Given the description of an element on the screen output the (x, y) to click on. 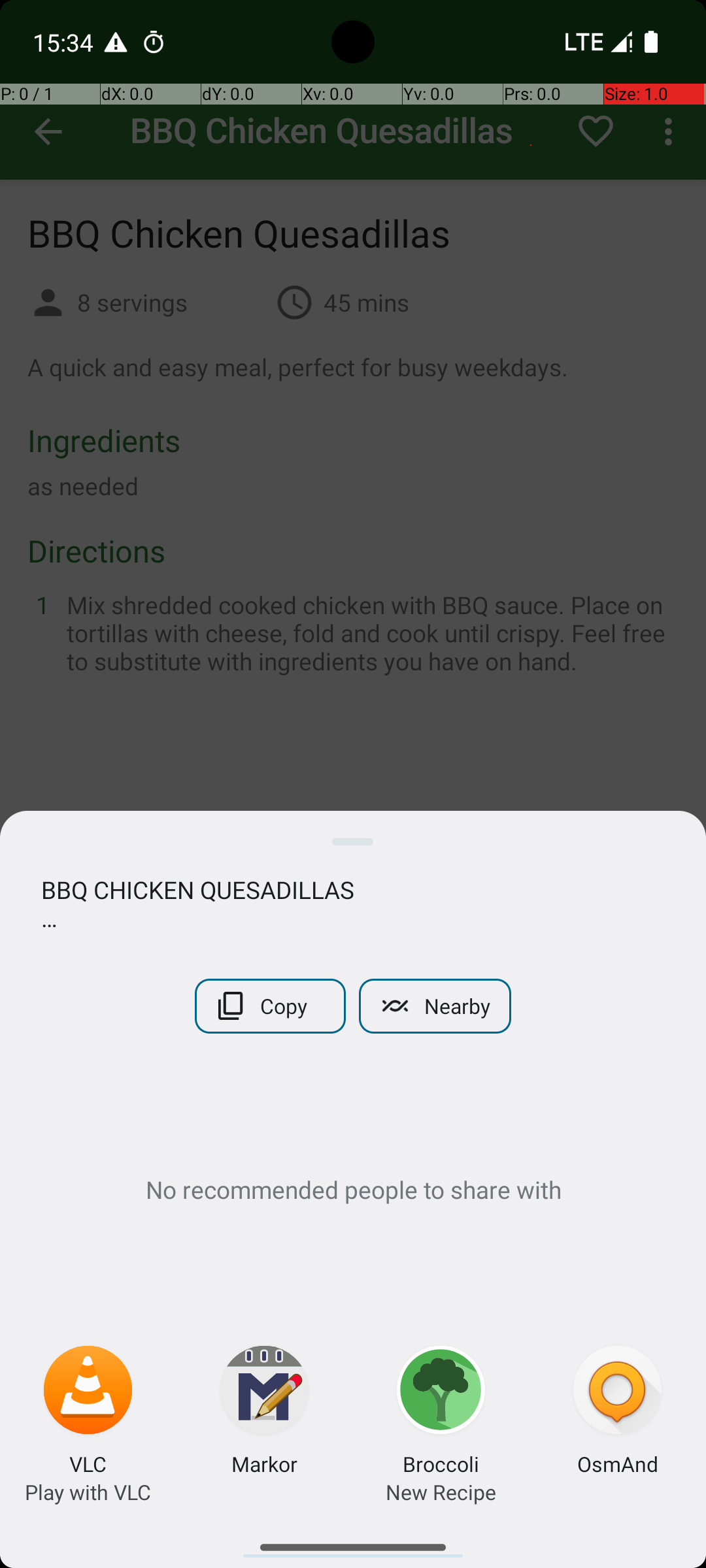
Apps list Element type: android.widget.ImageView (353, 1541)
BBQ CHICKEN QUESADILLAS

Servings: 8 servings
Time: 45 mins

A quick and easy meal, perfect for busy weekdays.

Ingredients:
- as needed

Directions:
1. Mix shredded cooked chicken with BBQ sauce. Place on tortillas with cheese, fold and cook until crispy. Feel free to substitute with ingredients you have on hand.

Shared with https://play.google.com/store/apps/details?id=com.flauschcode.broccoli Element type: android.widget.TextView (352, 903)
Copy Element type: android.widget.Button (269, 1005)
Nearby Element type: android.widget.Button (434, 1005)
No recommended people to share with Element type: android.widget.TextView (353, 1189)
Play with VLC Element type: android.widget.TextView (87, 1491)
OsmAnd Element type: android.widget.TextView (617, 1463)
